Given the description of an element on the screen output the (x, y) to click on. 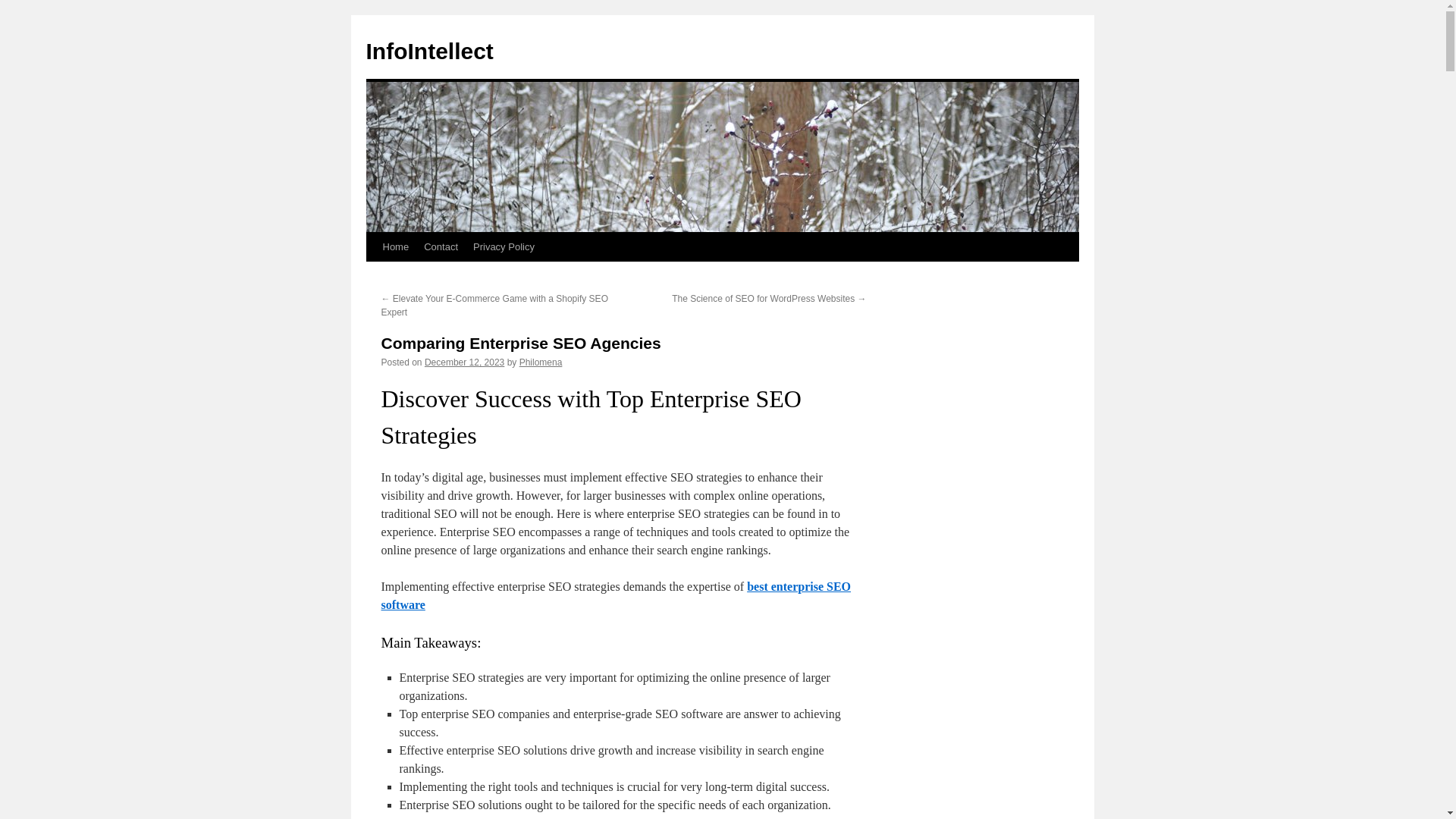
Contact (440, 246)
Home (395, 246)
best enterprise SEO software (615, 594)
View all posts by Philomena (540, 362)
6:47 am (464, 362)
Privacy Policy (503, 246)
Philomena (540, 362)
December 12, 2023 (464, 362)
InfoIntellect (429, 50)
